Given the description of an element on the screen output the (x, y) to click on. 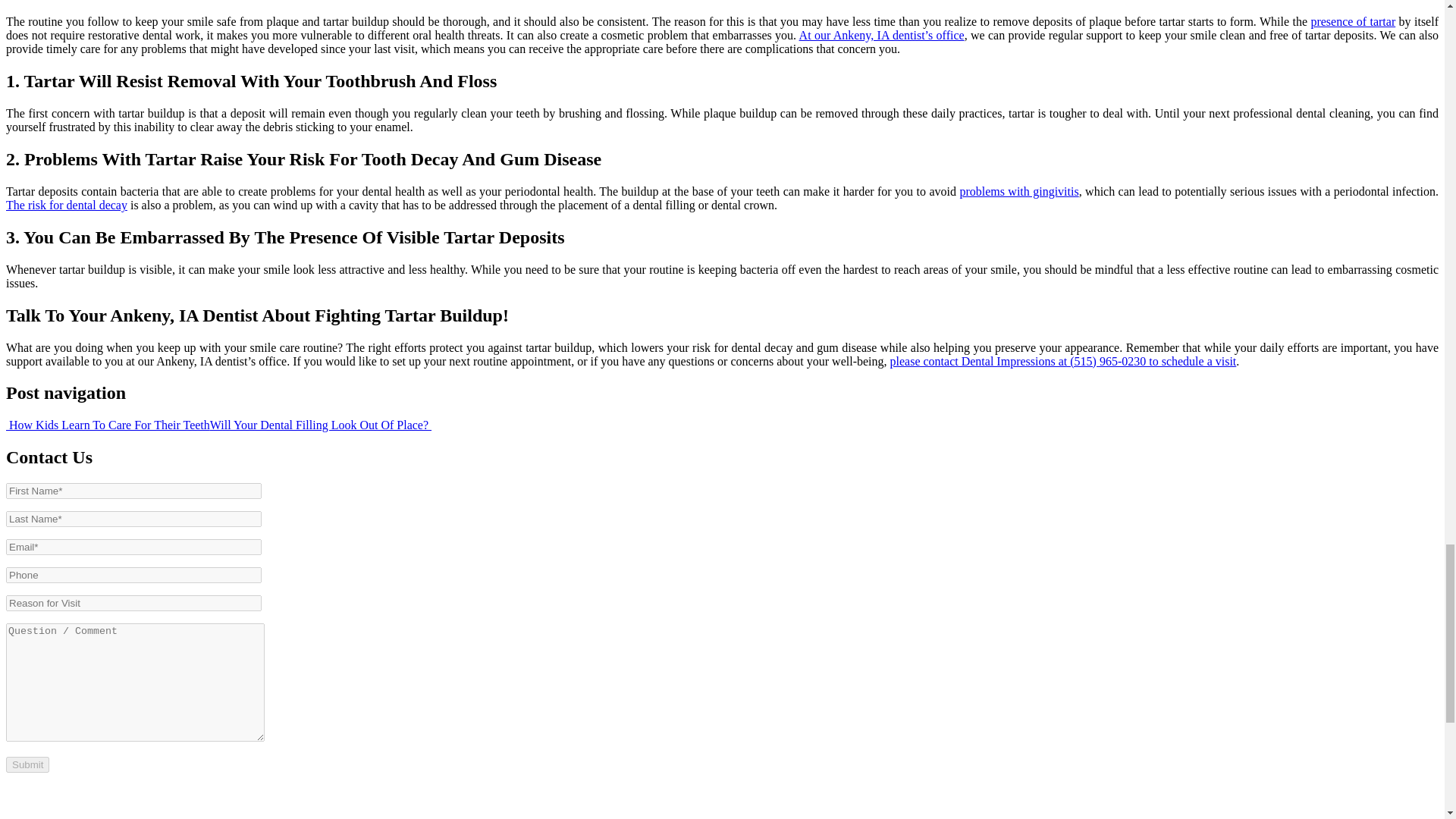
presence of tartar (1352, 21)
Submit (27, 764)
Will Your Dental Filling Look Out Of Place?  (319, 424)
Submit (27, 764)
 How Kids Learn To Care For Their Teeth (107, 424)
problems with gingivitis (1018, 191)
The risk for dental decay (66, 205)
